Given the description of an element on the screen output the (x, y) to click on. 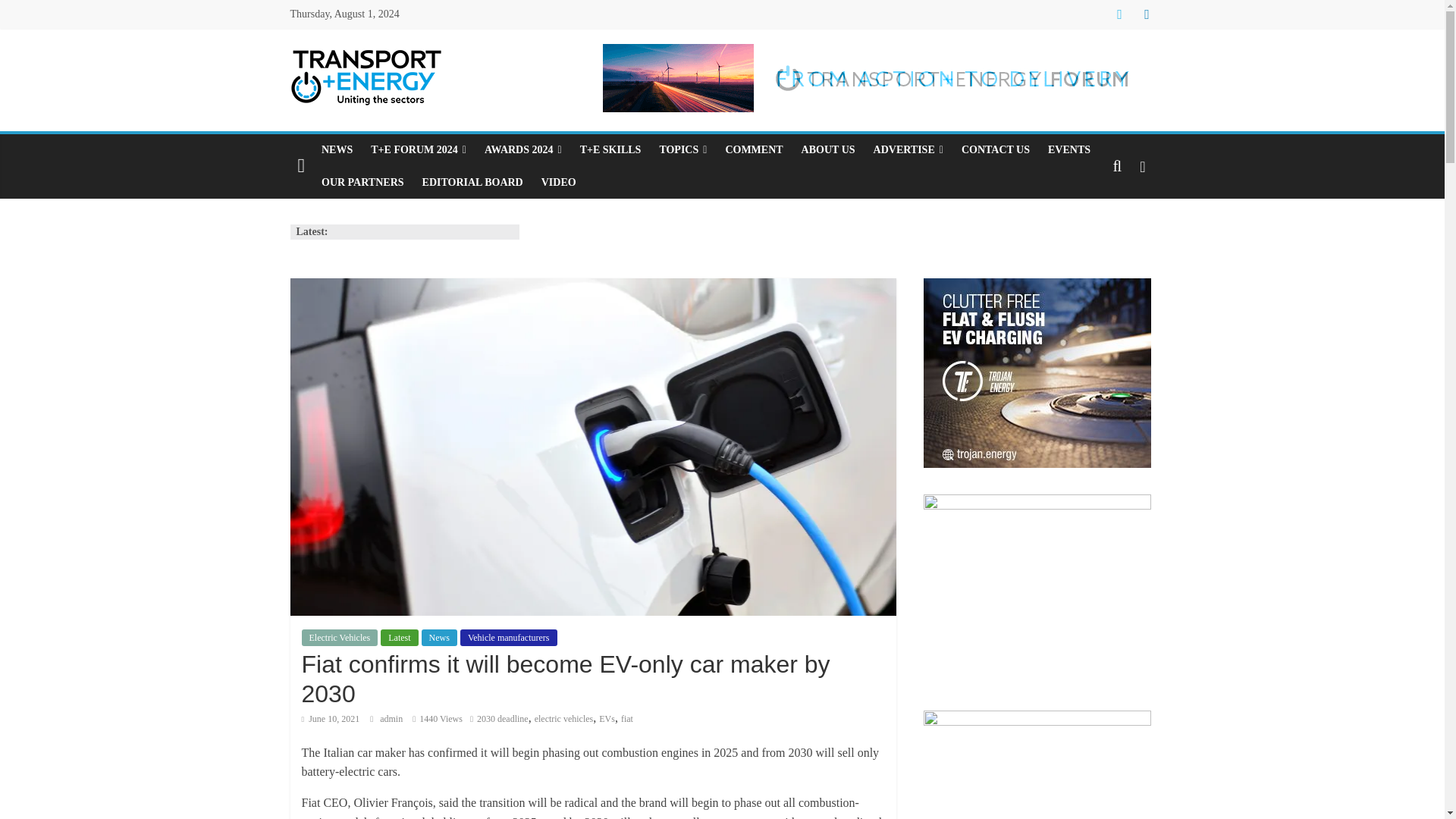
TOPICS (682, 150)
NEWS (337, 150)
AWARDS 2024 (523, 150)
admin (392, 718)
9:19 am (330, 718)
